Given the description of an element on the screen output the (x, y) to click on. 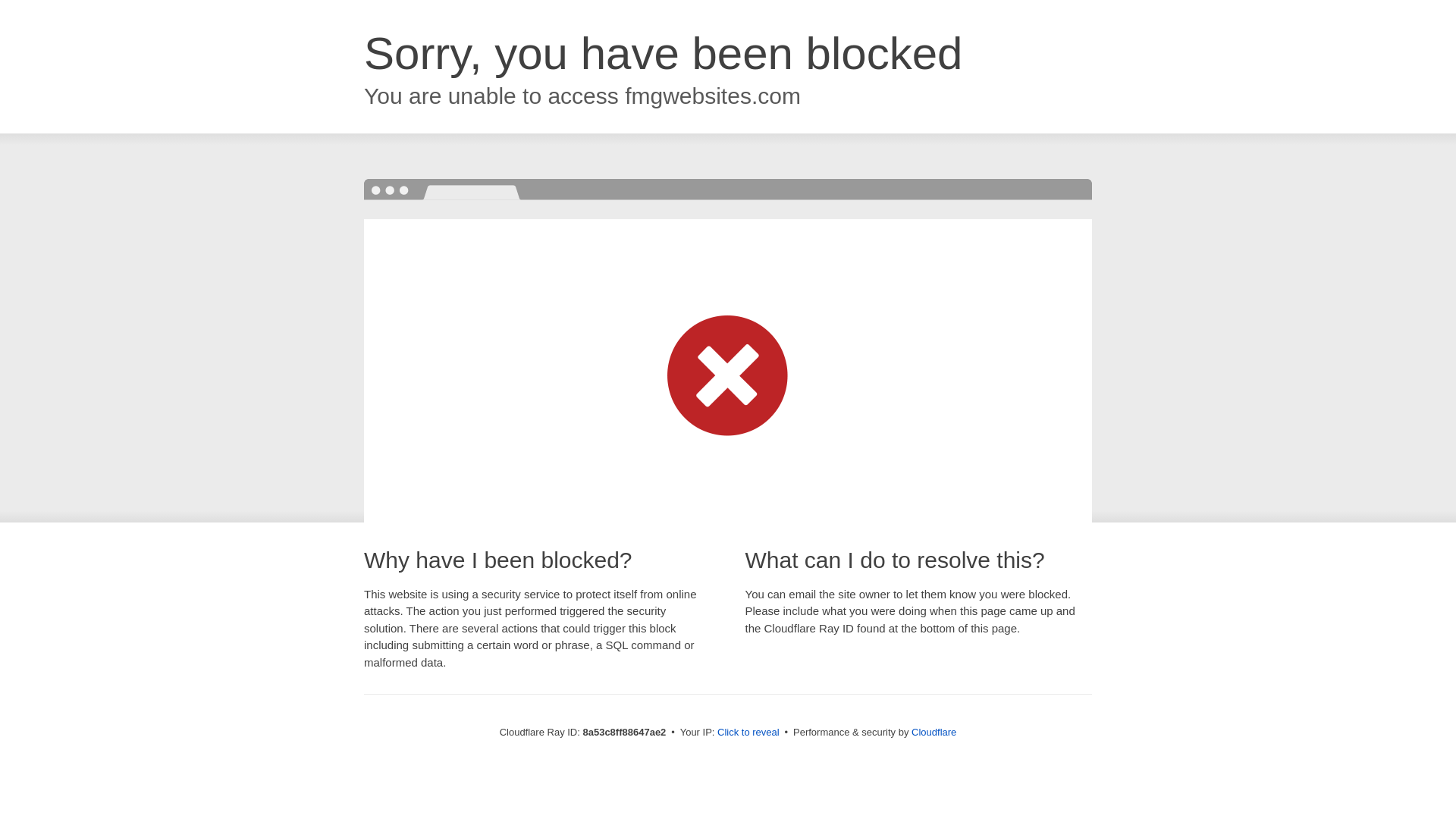
Cloudflare (933, 731)
Click to reveal (747, 732)
